Given the description of an element on the screen output the (x, y) to click on. 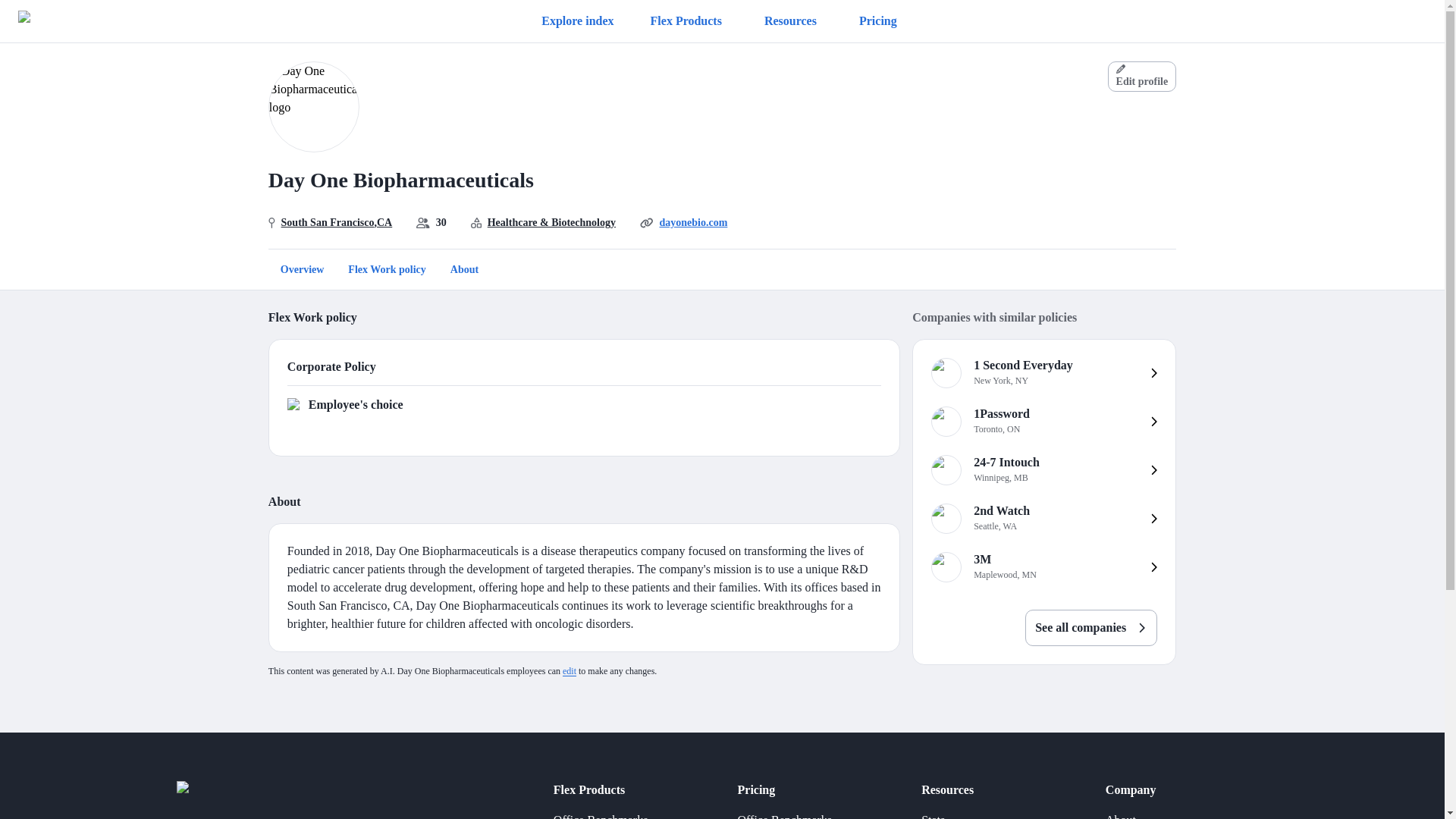
dayonebio.com (1043, 518)
See all companies (693, 222)
Office Benchmarks (1091, 618)
See all companies (784, 812)
South San Francisco (1091, 627)
Office Benchmarks (1043, 421)
edit (327, 222)
Edit profile (1043, 566)
CA (601, 812)
Explore index (1043, 469)
